Given the description of an element on the screen output the (x, y) to click on. 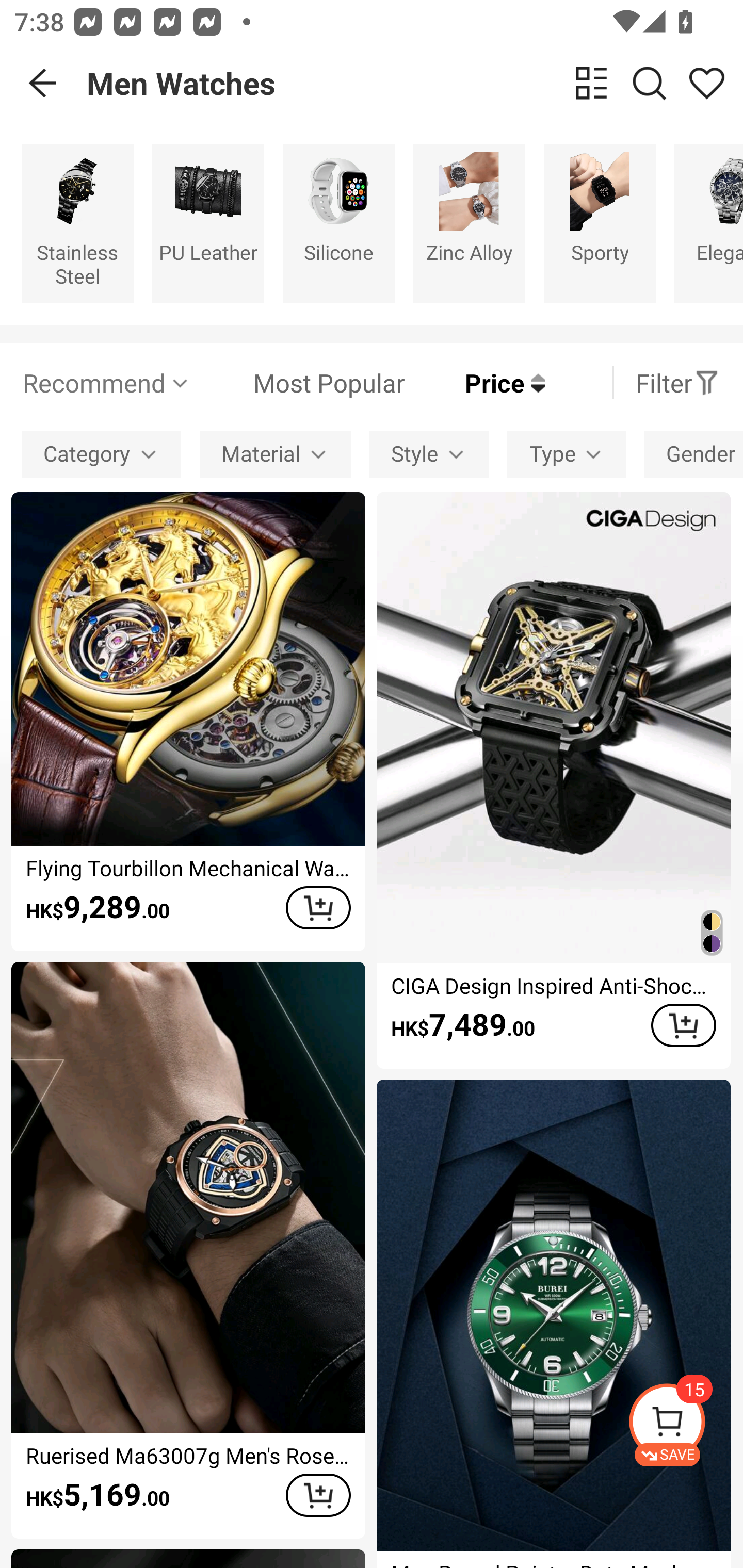
Men Watches change view Search Share (414, 82)
change view (591, 82)
Search (648, 82)
Share (706, 82)
Stainless Steel (77, 223)
PU Leather (208, 223)
Silicone (338, 223)
Zinc Alloy (469, 223)
Sporty (599, 223)
Elegant (708, 223)
Recommend (106, 382)
Most Popular (297, 382)
Price (474, 382)
Filter (677, 382)
Category (101, 454)
Material (274, 454)
Style (428, 454)
Type (566, 454)
Gender (693, 454)
ADD TO CART (318, 907)
ADD TO CART (683, 1025)
Men Round Pointer Date Mechanical Watch (553, 1323)
SAVE (685, 1424)
ADD TO CART (318, 1494)
